Given the description of an element on the screen output the (x, y) to click on. 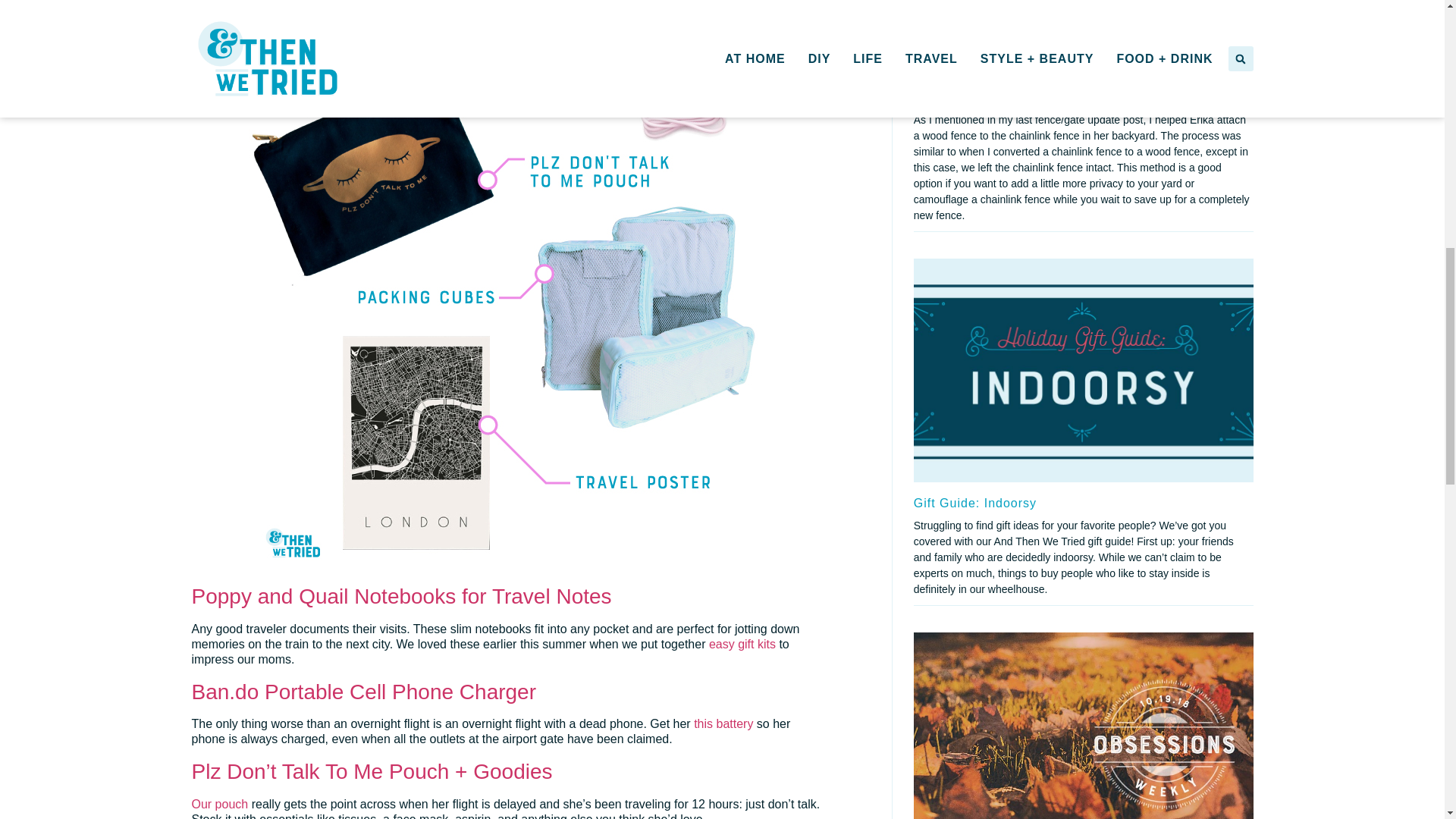
easy gift kits (742, 644)
Poppy and Quail Notebooks for Travel Notes (400, 596)
Ban.do Portable Cell Phone Charger (362, 691)
this battery (723, 723)
Our pouch (218, 803)
